Given the description of an element on the screen output the (x, y) to click on. 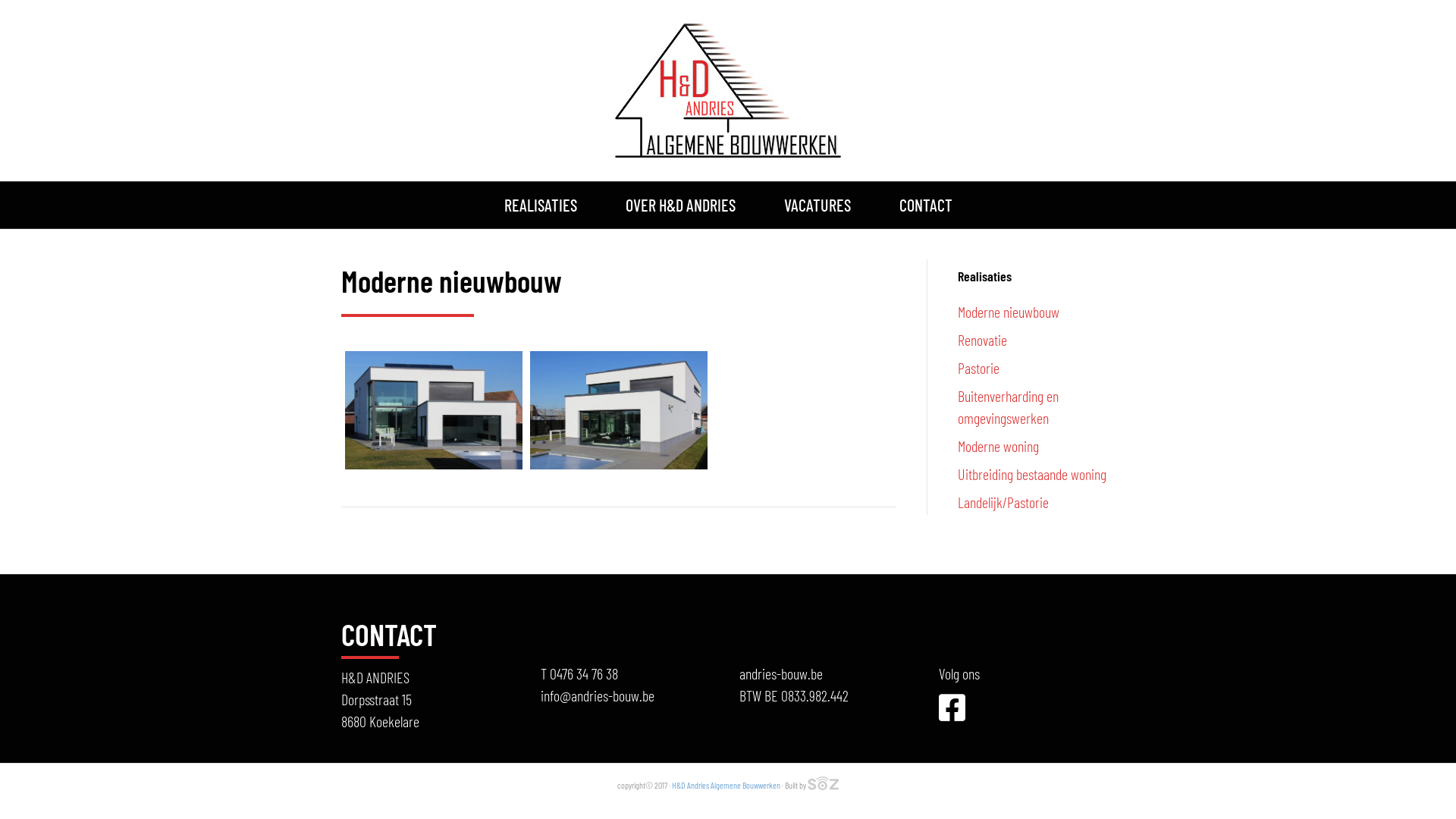
Landelijk/Pastorie Element type: text (1002, 501)
VACATURES Element type: text (817, 205)
OVER H&D ANDRIES Element type: text (679, 205)
Renovatie Element type: text (981, 339)
Pastorie Element type: text (977, 367)
andries-bouw.be Element type: text (780, 673)
REALISATIES Element type: text (539, 205)
Moderne nieuwbouw Element type: text (1007, 311)
CONTACT Element type: text (925, 205)
Moderne woning Element type: text (997, 445)
H&D Andries Algemene Bouwwerken Element type: text (725, 784)
Uitbreiding bestaande woning Element type: text (1031, 473)
Moderne nieuwbouw Element type: hover (433, 410)
info@andries-bouw.be Element type: text (596, 695)
Buitenverharding en omgevingswerken Element type: text (1007, 406)
Moderne nieuwbouw Element type: hover (618, 410)
0476 34 76 38 Element type: text (583, 673)
